Given the description of an element on the screen output the (x, y) to click on. 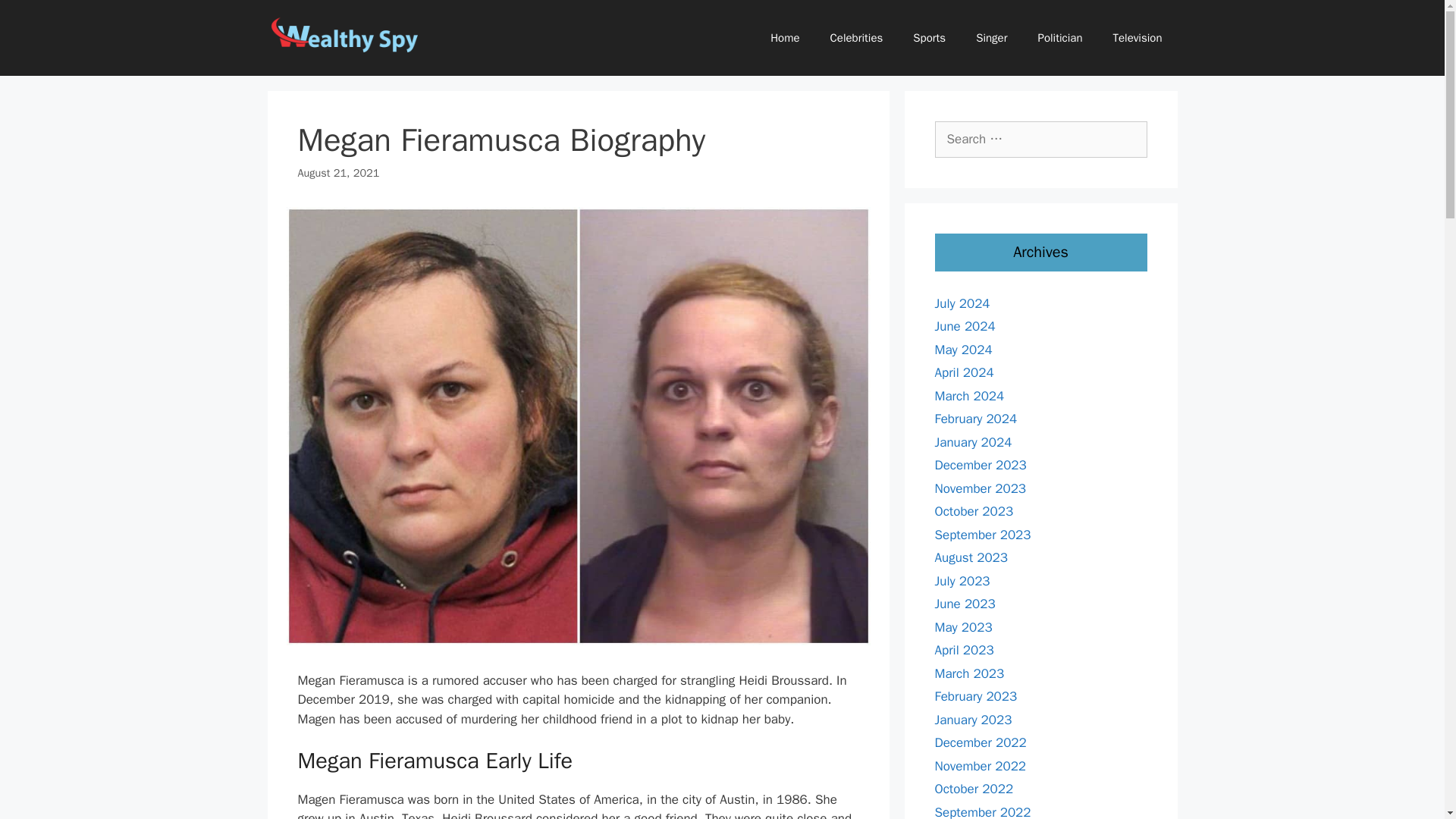
March 2024 (969, 396)
November 2023 (980, 488)
October 2023 (973, 511)
Home (784, 37)
July 2024 (962, 303)
Television (1137, 37)
January 2024 (972, 441)
Search (35, 18)
Search for: (1040, 139)
September 2023 (982, 534)
July 2023 (962, 580)
May 2024 (962, 349)
August 2023 (970, 557)
Sports (929, 37)
June 2024 (964, 326)
